Given the description of an element on the screen output the (x, y) to click on. 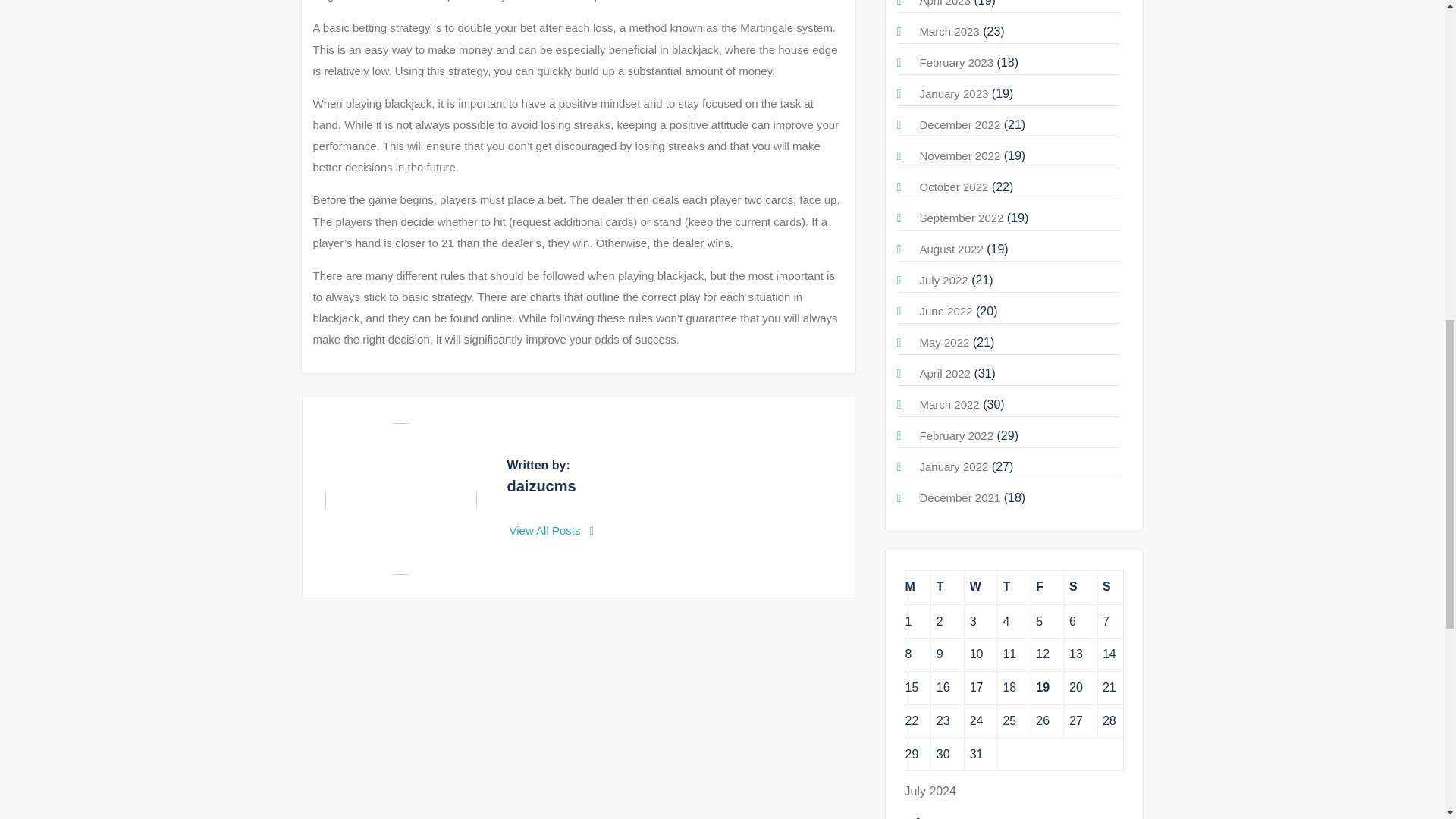
November 2022 (959, 155)
January 2023 (953, 92)
Thursday (1013, 587)
May 2022 (943, 341)
March 2022 (948, 404)
March 2023 (948, 31)
July 2022 (943, 279)
Saturday (1080, 587)
Wednesday (980, 587)
April 2023 (944, 3)
View All Posts (551, 530)
Tuesday (947, 587)
June 2022 (945, 310)
October 2022 (953, 186)
Friday (1047, 587)
